Given the description of an element on the screen output the (x, y) to click on. 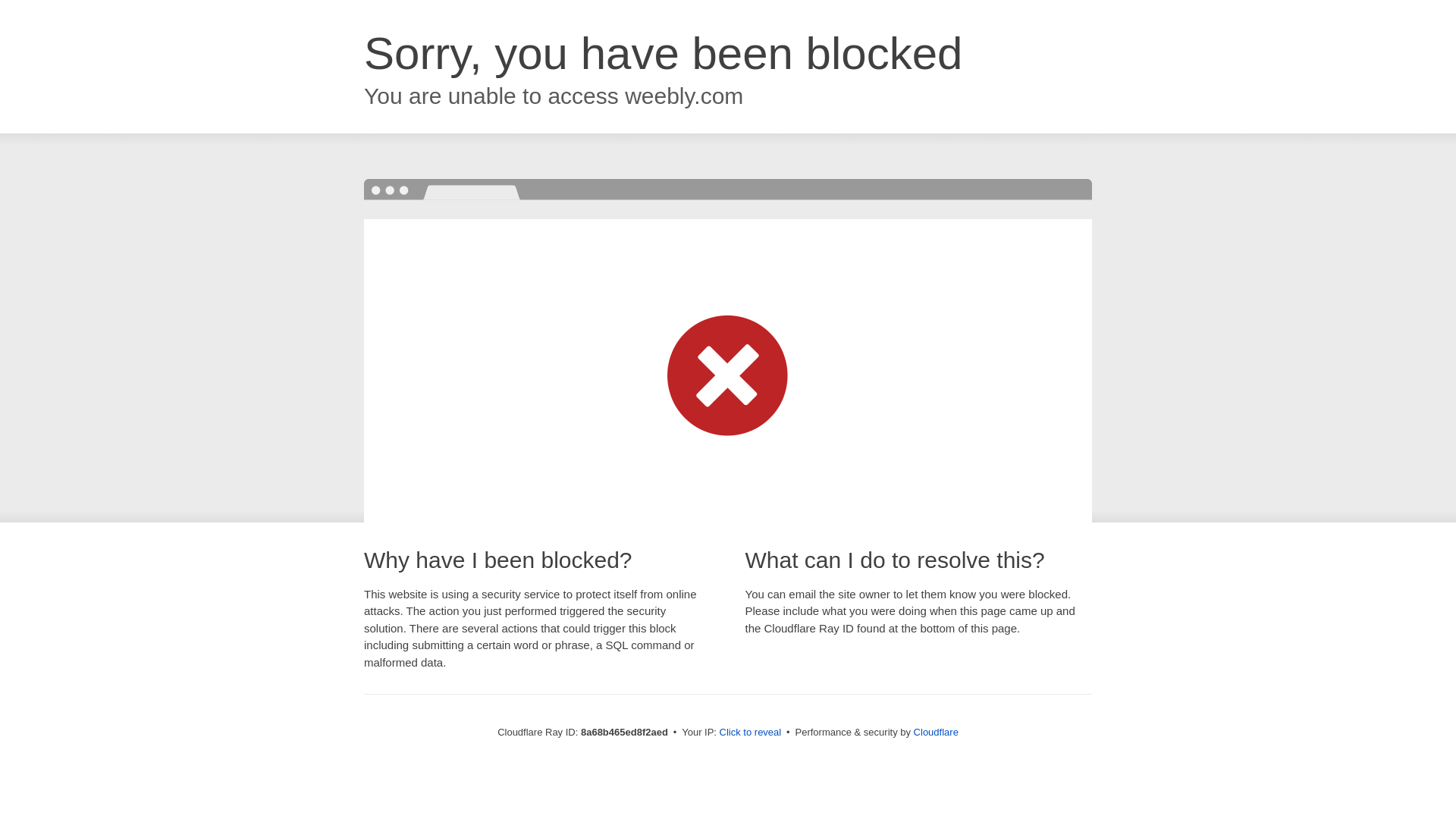
Click to reveal (750, 732)
Cloudflare (936, 731)
